Given the description of an element on the screen output the (x, y) to click on. 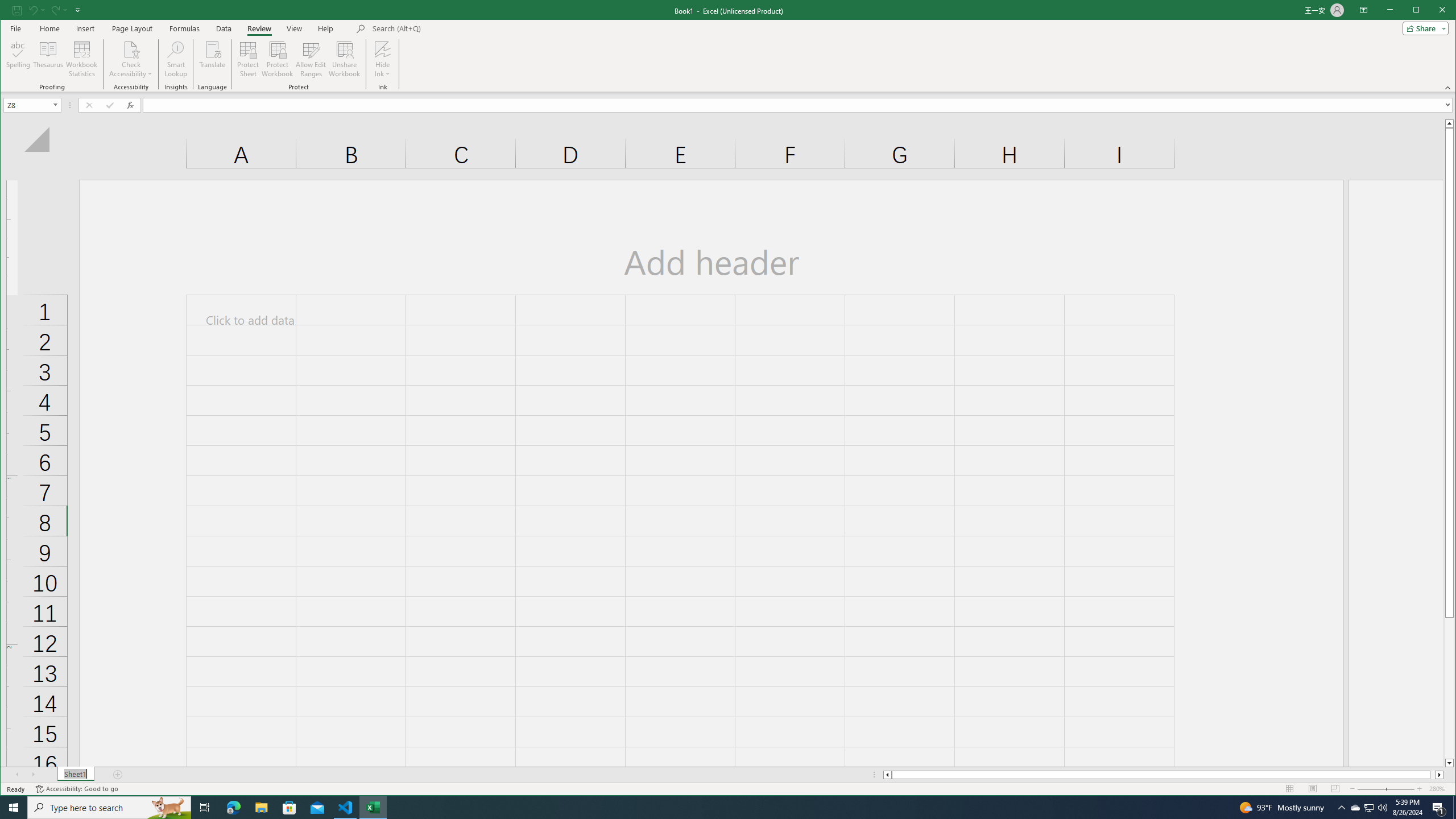
Maximize (1432, 11)
Page right (1432, 774)
Notification Chevron (1341, 807)
Hide Ink (382, 48)
